Given the description of an element on the screen output the (x, y) to click on. 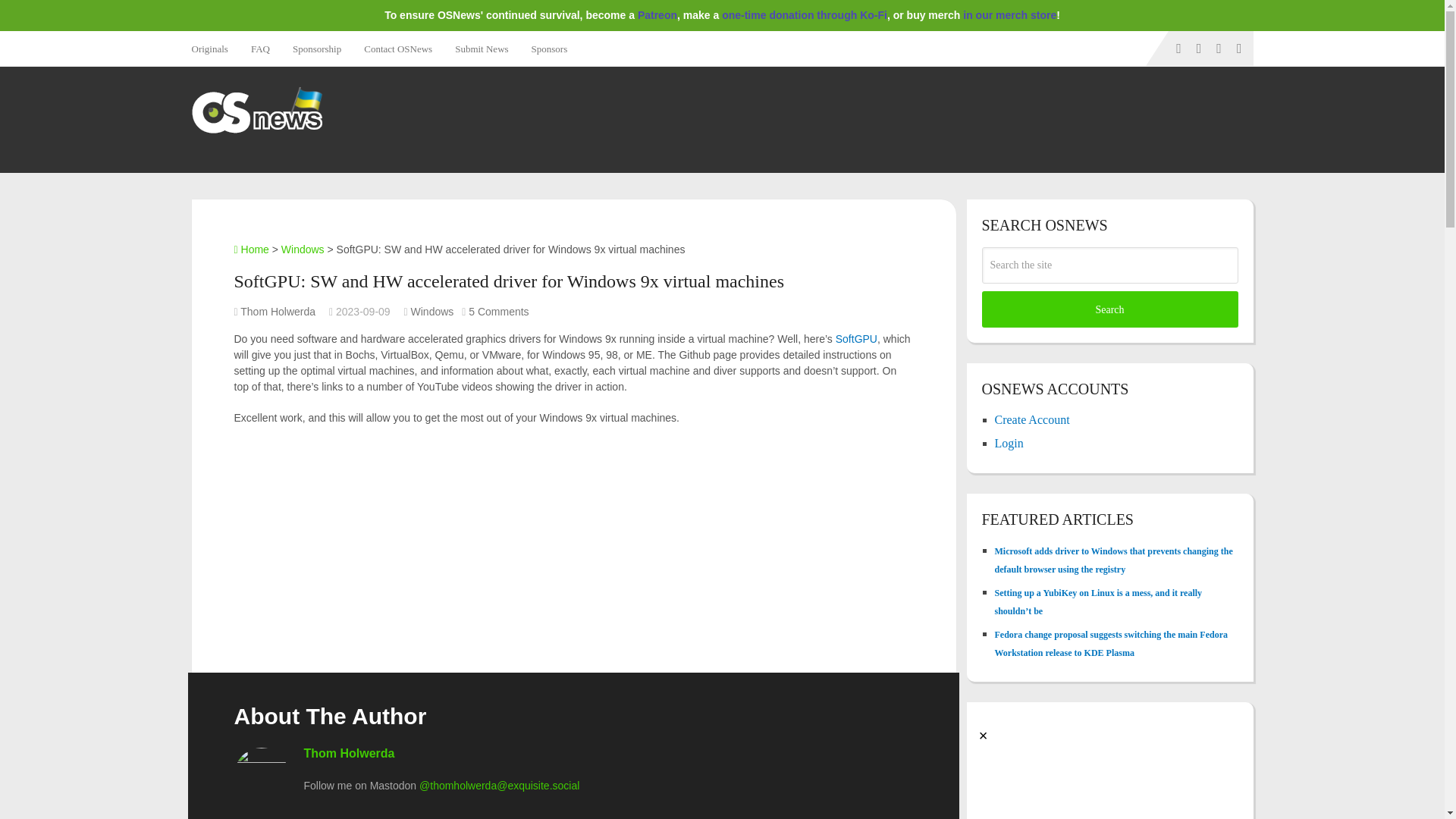
Originals (214, 48)
Contact OSNews (398, 48)
one-time donation through Ko-Fi (804, 15)
Create Account (1032, 419)
View all posts in Windows (432, 311)
Sponsors (549, 48)
Windows (432, 311)
Search (1109, 309)
Thom Holwerda (277, 311)
in our merch store (1009, 15)
Login (1008, 442)
Posts by Thom Holwerda (277, 311)
Patreon (657, 15)
